Given the description of an element on the screen output the (x, y) to click on. 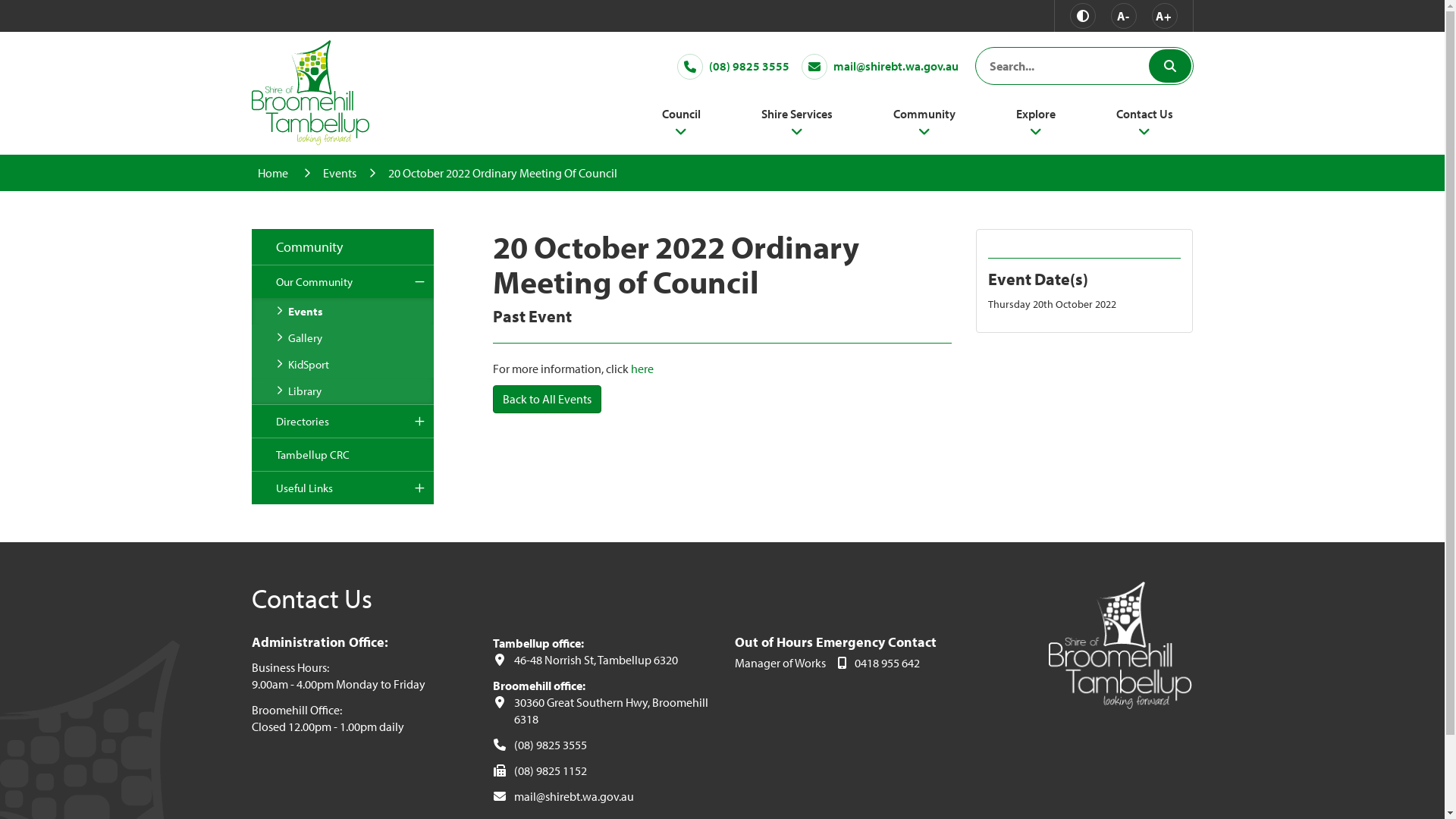
Council Element type: text (681, 125)
KidSport Element type: text (342, 364)
here Element type: text (641, 368)
Contact Us Element type: text (1143, 125)
Directories Element type: text (342, 420)
mail@shirebt.wa.gov.au Element type: text (878, 66)
46-48 Norrish St, Tambellup 6320 Element type: text (601, 658)
(08) 9825 3555 Element type: text (732, 66)
Back to All Events Element type: text (546, 399)
Library Element type: text (342, 390)
Community Element type: text (923, 125)
View the Shire of Broomehill-Tambellup website home page Element type: hover (310, 90)
0418 955 642 Element type: text (878, 662)
Explore Element type: text (1034, 125)
Useful Links Element type: text (342, 487)
A- Element type: text (1122, 15)
Gallery Element type: text (342, 337)
Events Element type: text (339, 172)
A+ Element type: text (1163, 15)
mail@shirebt.wa.gov.au Element type: text (601, 795)
(08) 9825 3555 Element type: text (601, 743)
Home Element type: text (274, 172)
Shire Services Element type: text (795, 125)
30360 Great Southern Hwy, Broomehill 6318 Element type: text (601, 709)
20 October 2022 Ordinary Meeting Of Council Element type: text (502, 172)
Our Community Element type: text (342, 281)
Events Element type: text (342, 311)
Tambellup CRC Element type: text (342, 454)
Community Element type: text (342, 246)
